Given the description of an element on the screen output the (x, y) to click on. 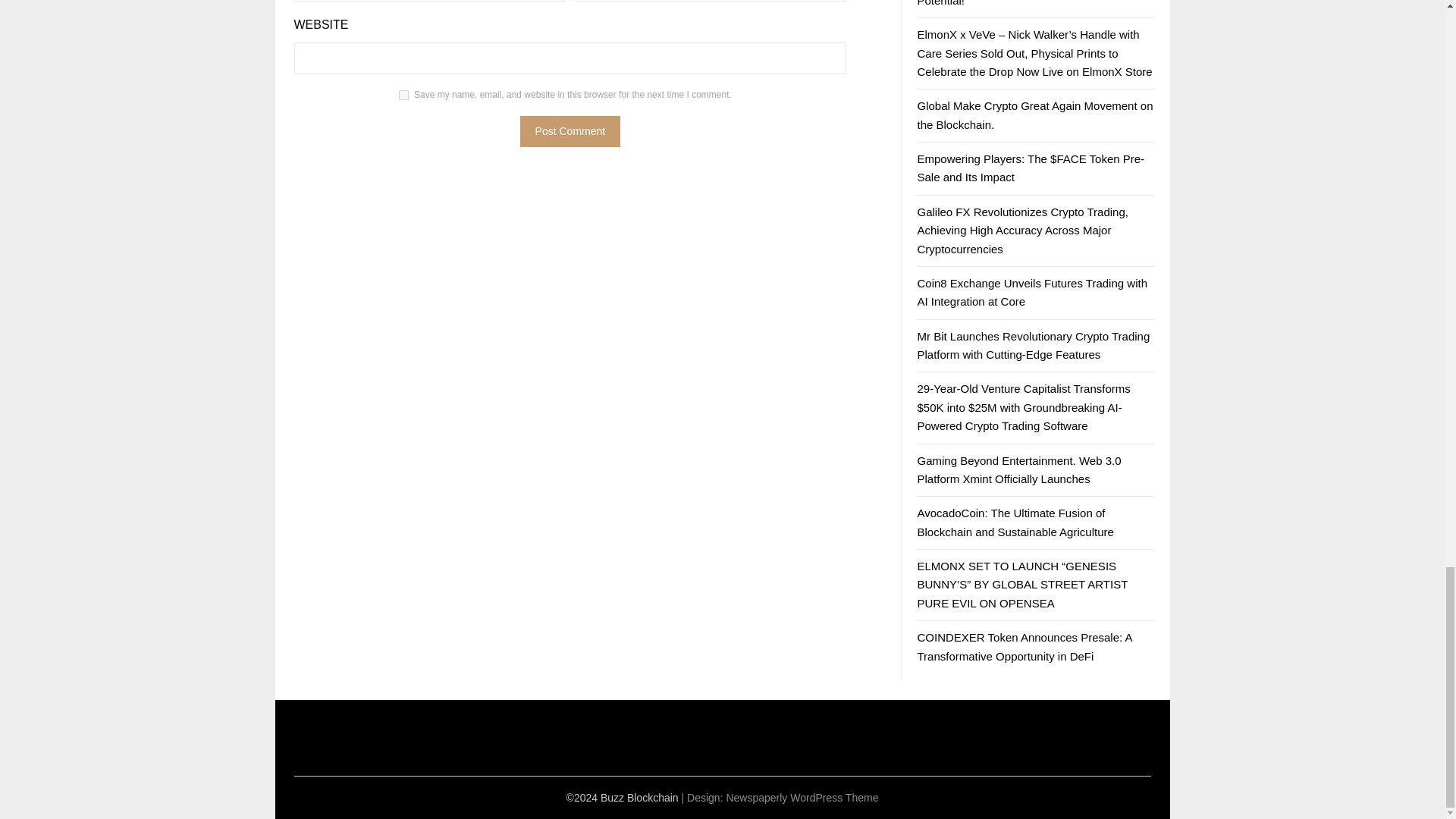
Post Comment (570, 131)
yes (403, 94)
Post Comment (570, 131)
